Given the description of an element on the screen output the (x, y) to click on. 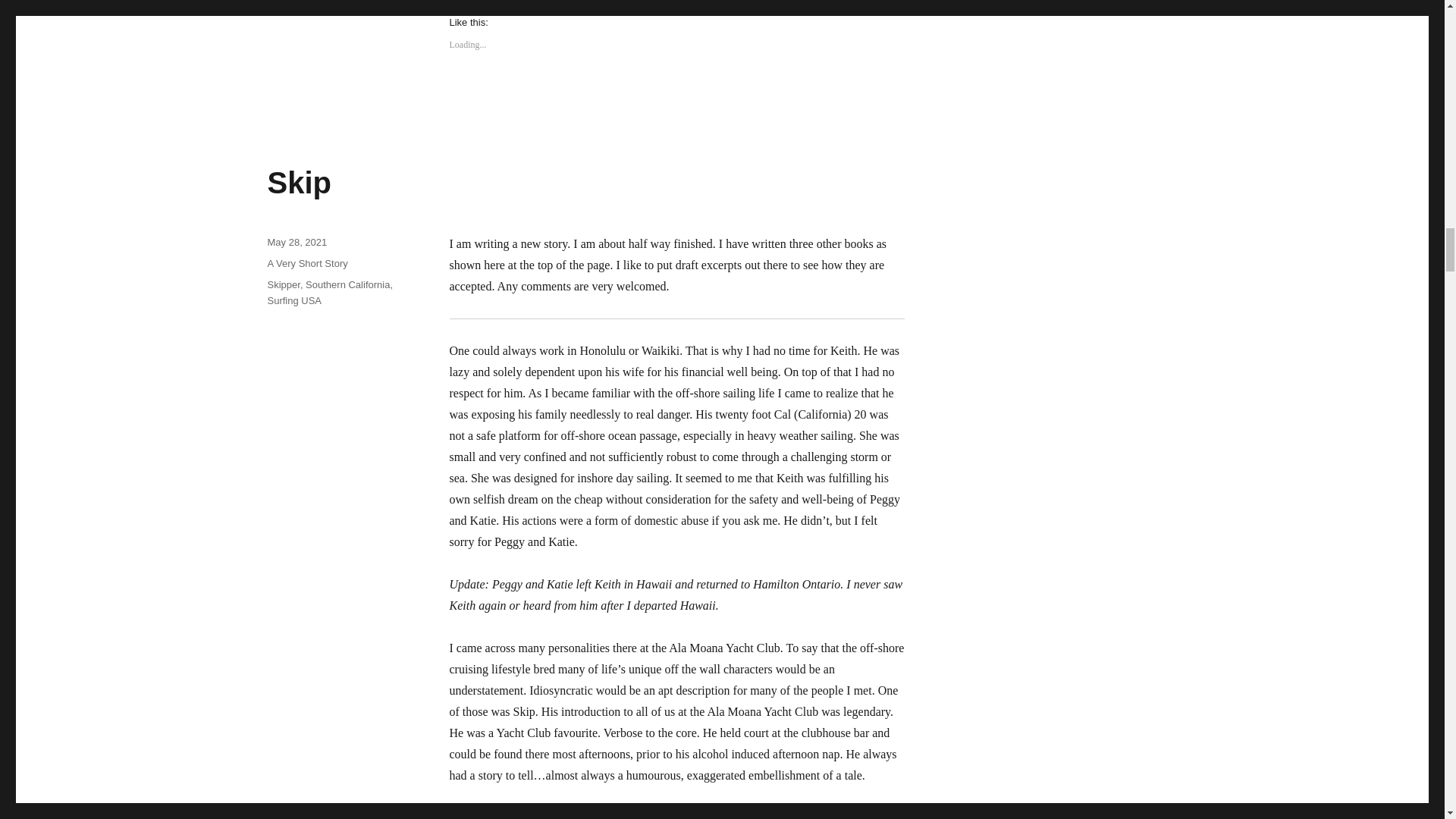
Surfing USA (293, 300)
Skip (298, 182)
A Very Short Story (306, 263)
May 28, 2021 (296, 242)
Southern California (347, 284)
Skipper (282, 284)
